Given the description of an element on the screen output the (x, y) to click on. 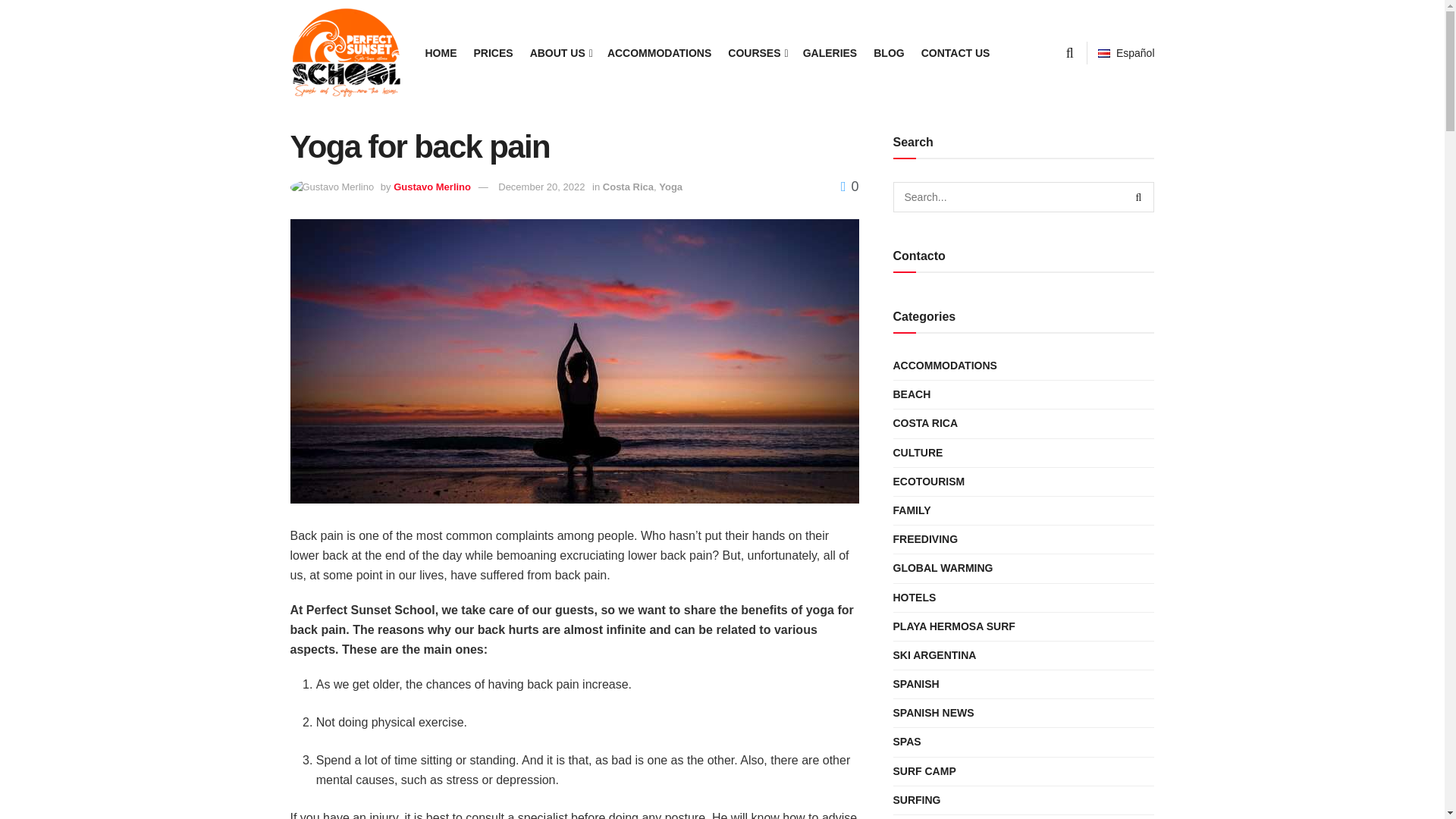
CONTACT US (955, 52)
GALERIES (830, 52)
ACCOMMODATIONS (659, 52)
HOME (441, 52)
PRICES (492, 52)
BLOG (888, 52)
ABOUT US (560, 52)
COURSES (757, 52)
